Given the description of an element on the screen output the (x, y) to click on. 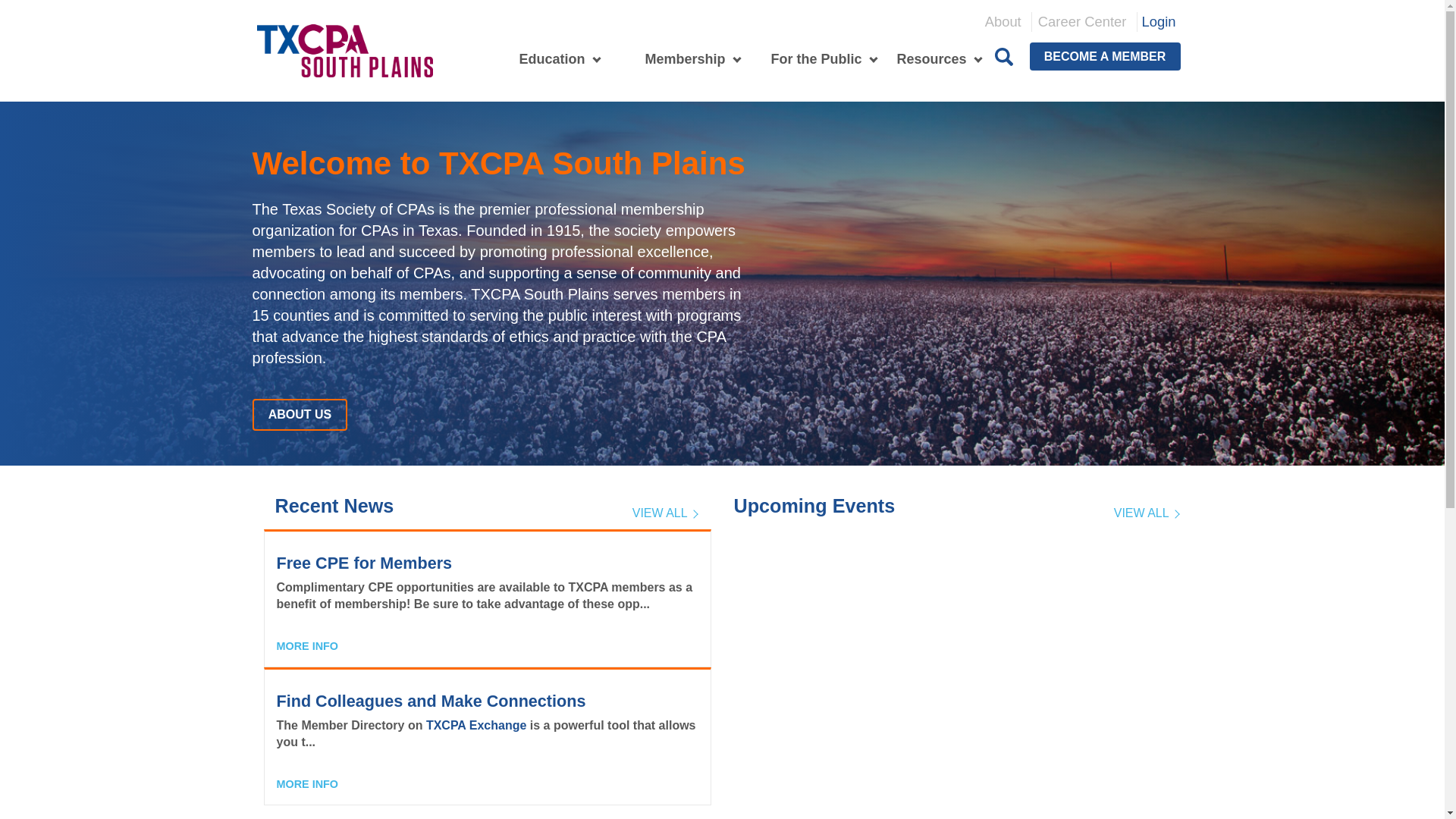
MORE INFO (306, 784)
ABOUT US (299, 413)
Career Center (1082, 21)
Education (545, 59)
Login (1158, 21)
Membership (678, 59)
Free CPE for Members (363, 562)
About (1002, 21)
BECOME A MEMBER (1104, 56)
Resources (924, 59)
MORE INFO (306, 645)
Search (1003, 56)
TXCPA Exchange (475, 725)
For the Public (809, 59)
VIEW ALL (664, 517)
